Given the description of an element on the screen output the (x, y) to click on. 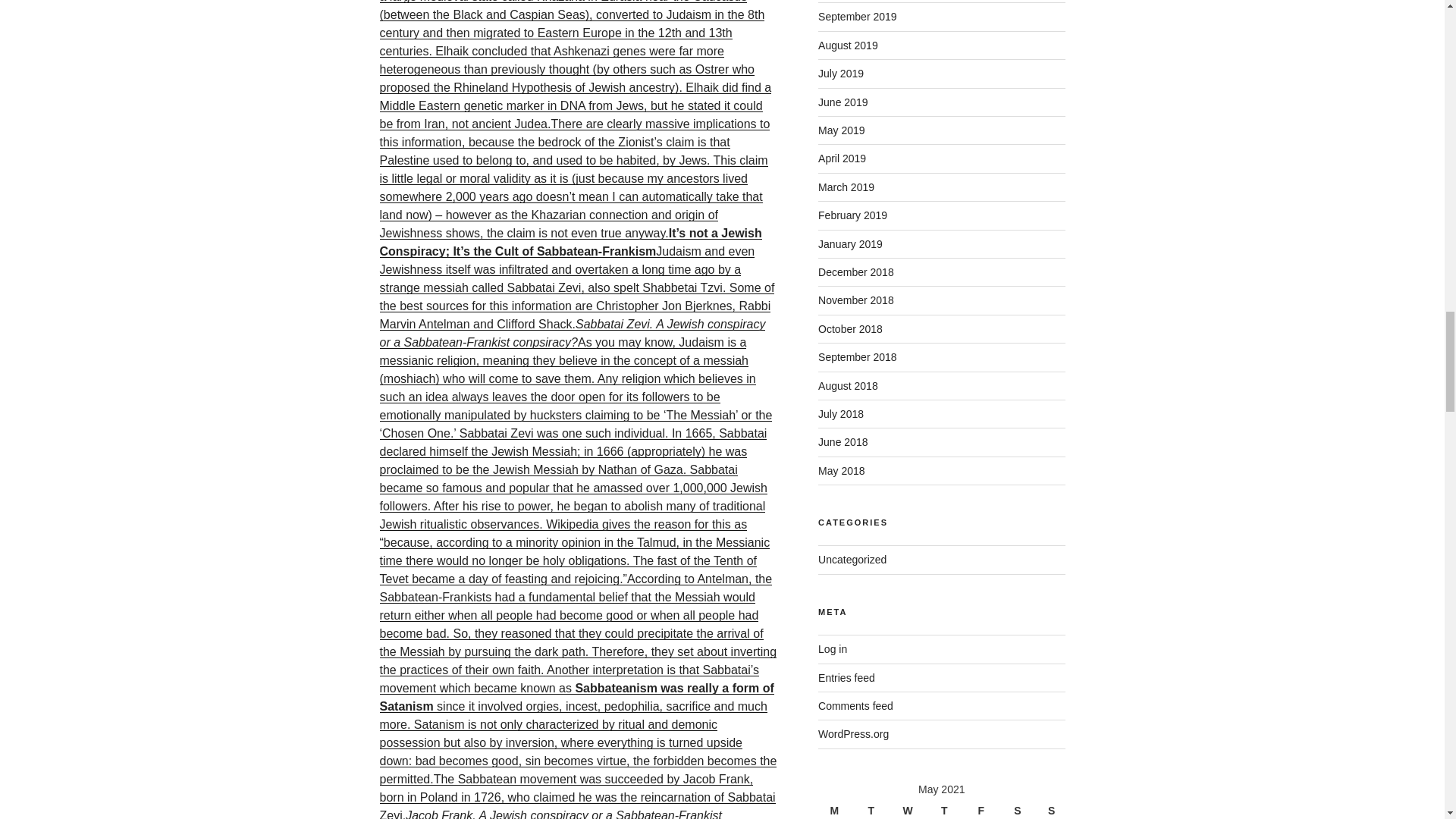
Sunday (1051, 808)
Thursday (945, 808)
Saturday (1019, 808)
Monday (836, 808)
Wednesday (909, 808)
Tuesday (872, 808)
Friday (982, 808)
